Given the description of an element on the screen output the (x, y) to click on. 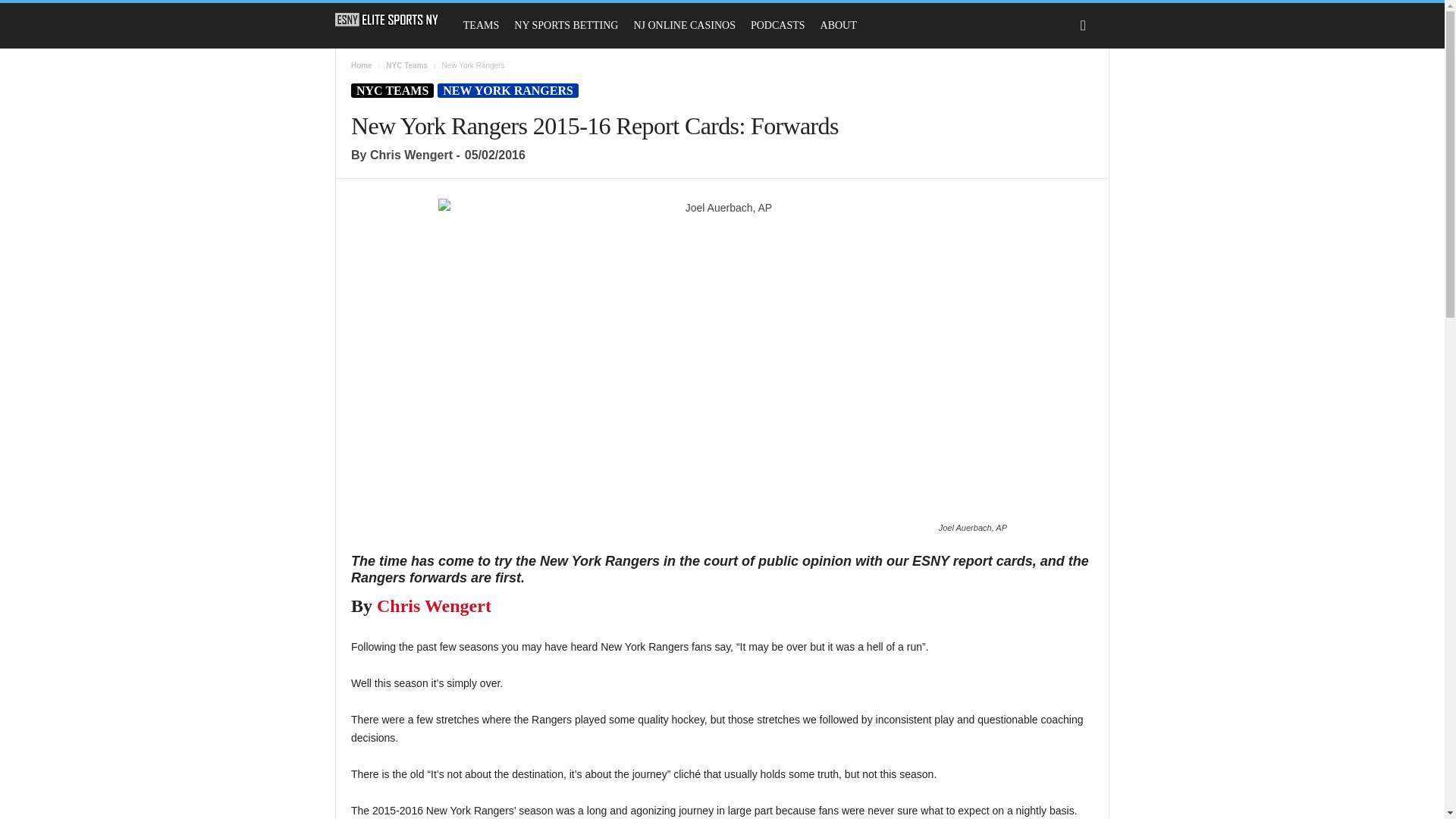
TEAMS (480, 25)
Elite Sports NY (386, 19)
Elite Sports NY (394, 19)
View all posts in NYC Teams (406, 65)
